Given the description of an element on the screen output the (x, y) to click on. 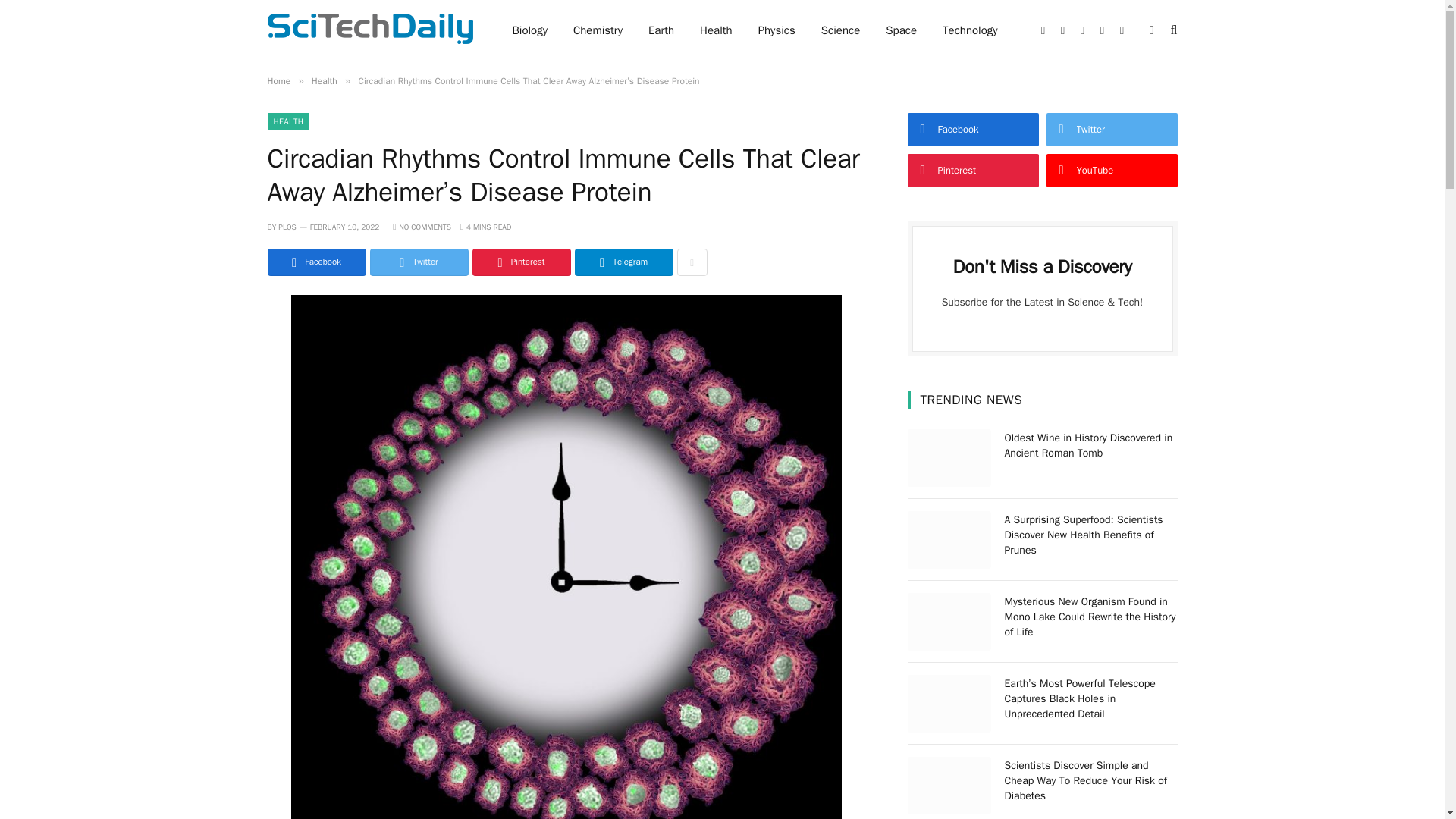
Home (277, 80)
Telegram (623, 262)
Twitter (418, 262)
Health (716, 30)
Health (324, 80)
Switch to Dark Design - easier on eyes. (1151, 30)
Pinterest (520, 262)
SciTechDaily (368, 30)
Technology (970, 30)
Space (901, 30)
